Given the description of an element on the screen output the (x, y) to click on. 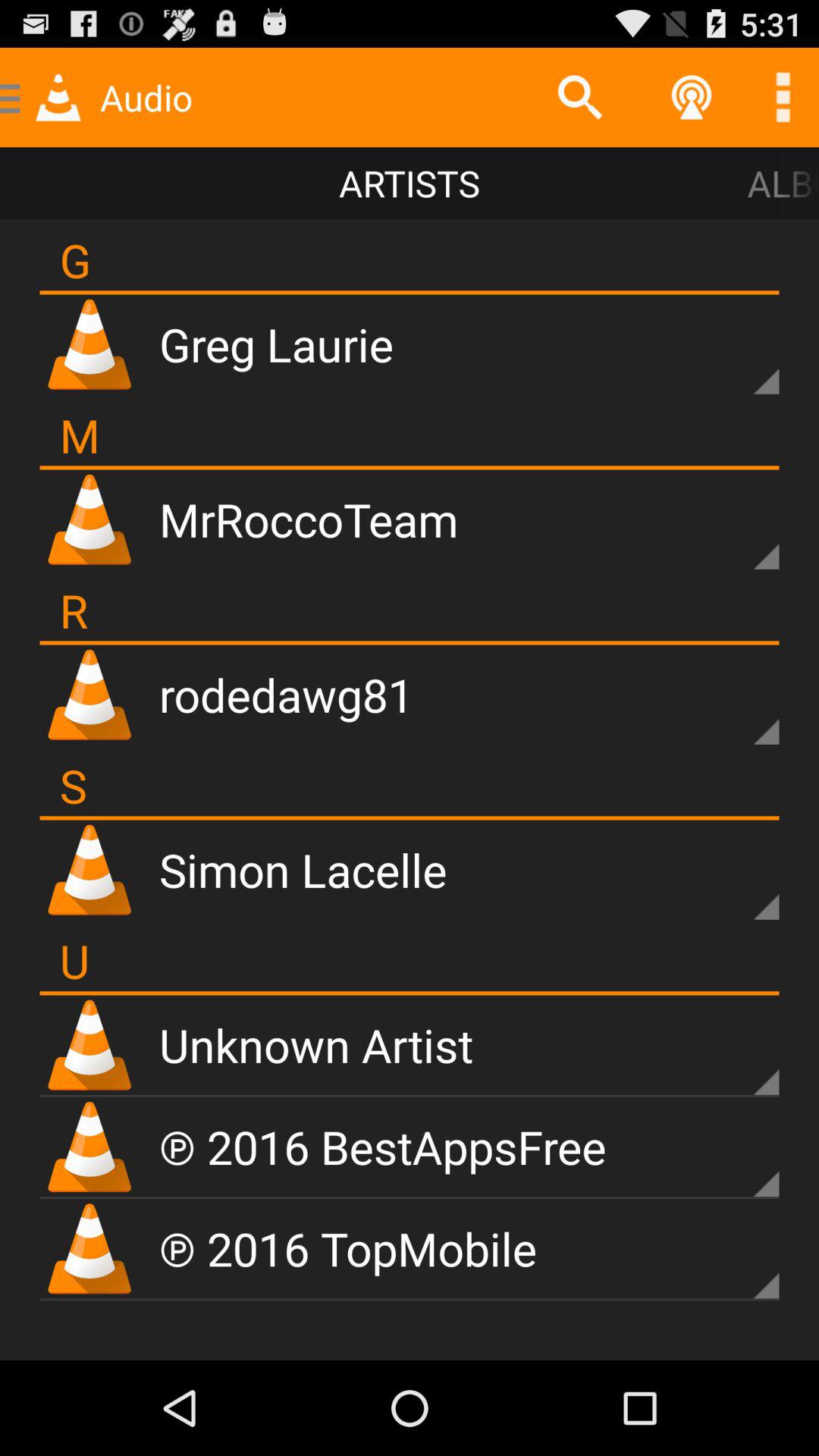
more options (740, 1157)
